Given the description of an element on the screen output the (x, y) to click on. 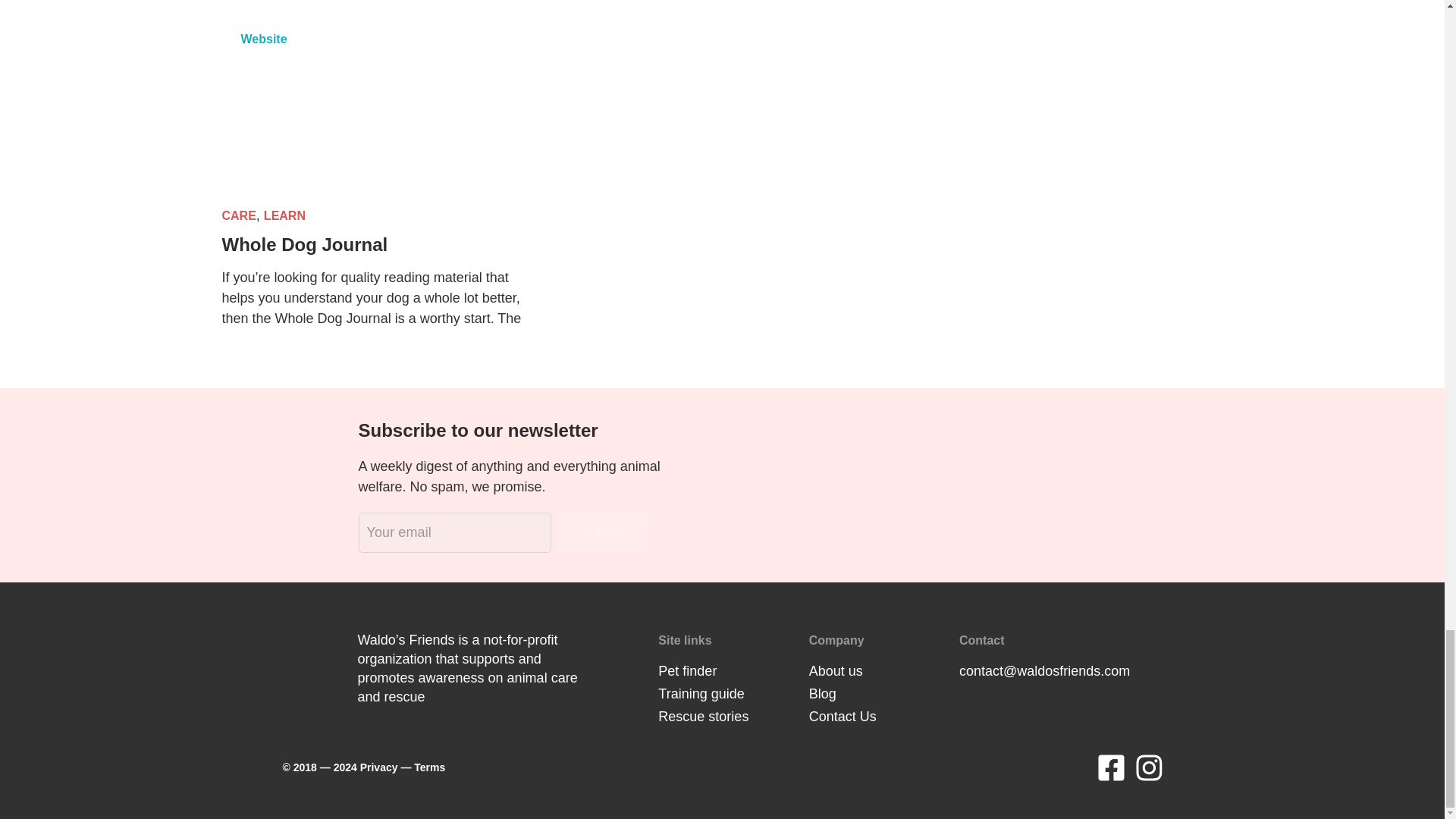
Website (372, 105)
Whole Dog Journal (304, 244)
Training guide (701, 693)
CARE (238, 215)
LEARN (284, 215)
Submit (601, 531)
Pet finder (687, 670)
Rescue stories (703, 716)
